Given the description of an element on the screen output the (x, y) to click on. 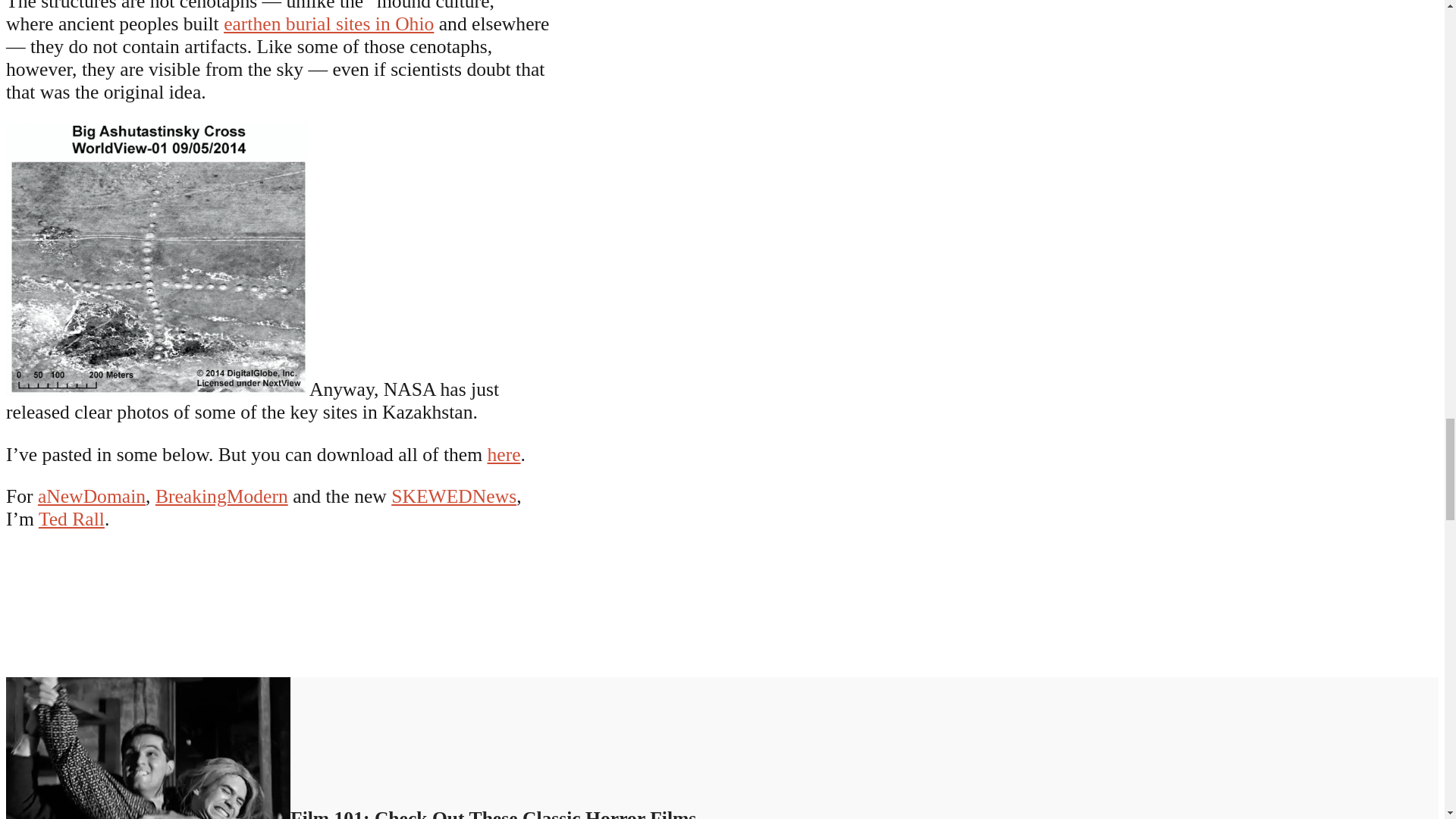
BreakingModern (221, 495)
aNewDomain (91, 495)
here (502, 454)
Film 101: Check Out These Classic Horror Films (350, 813)
SKEWEDNews (453, 495)
earthen burial sites in Ohio (328, 24)
Ted Rall (71, 518)
